Given the description of an element on the screen output the (x, y) to click on. 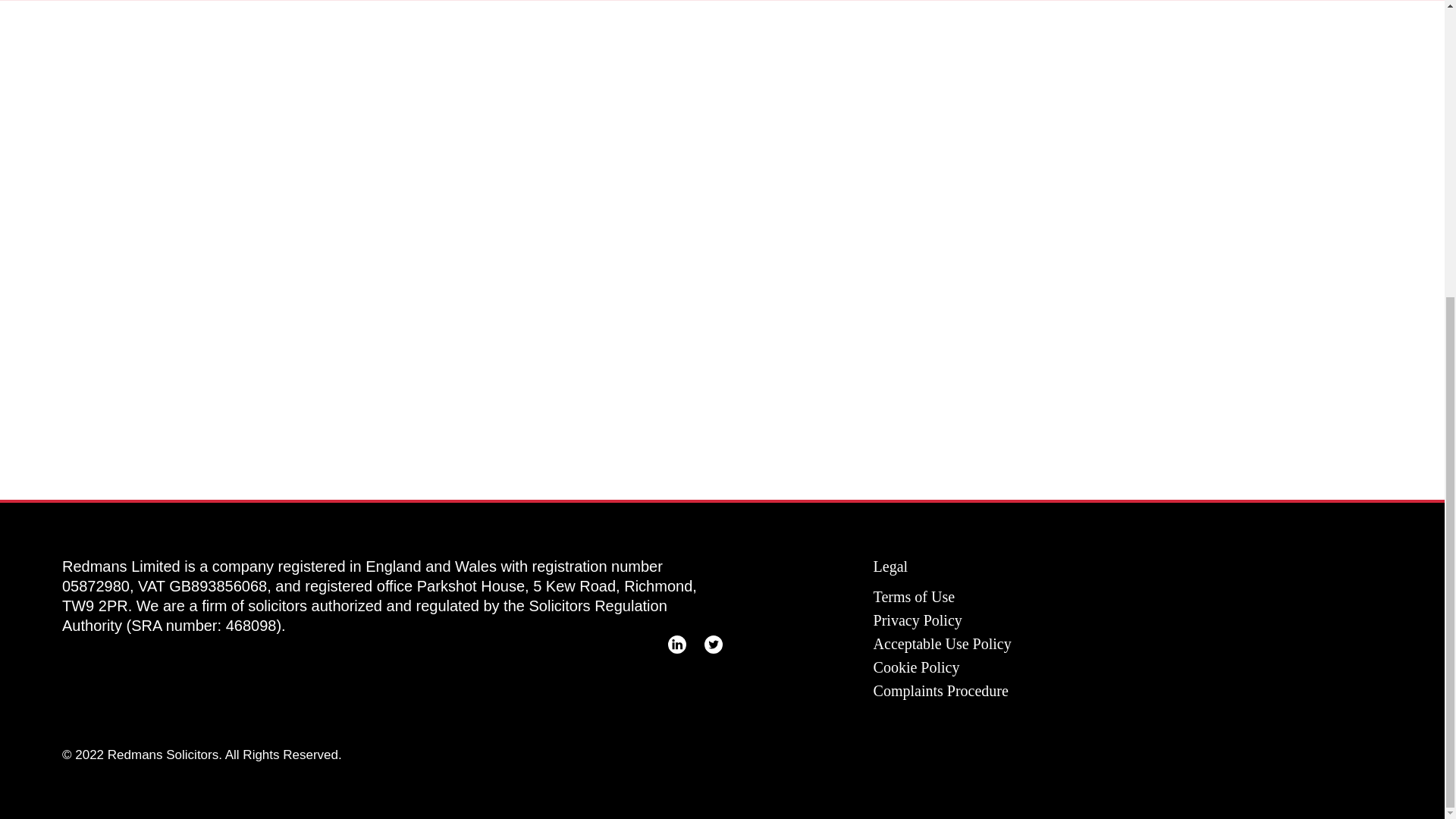
LinkedIn (675, 644)
Cookie Policy (916, 667)
Privacy Policy (917, 619)
Complaints Procedure (941, 690)
Terms of Use (914, 596)
Twitter (712, 644)
Acceptable Use Policy (942, 643)
